Given the description of an element on the screen output the (x, y) to click on. 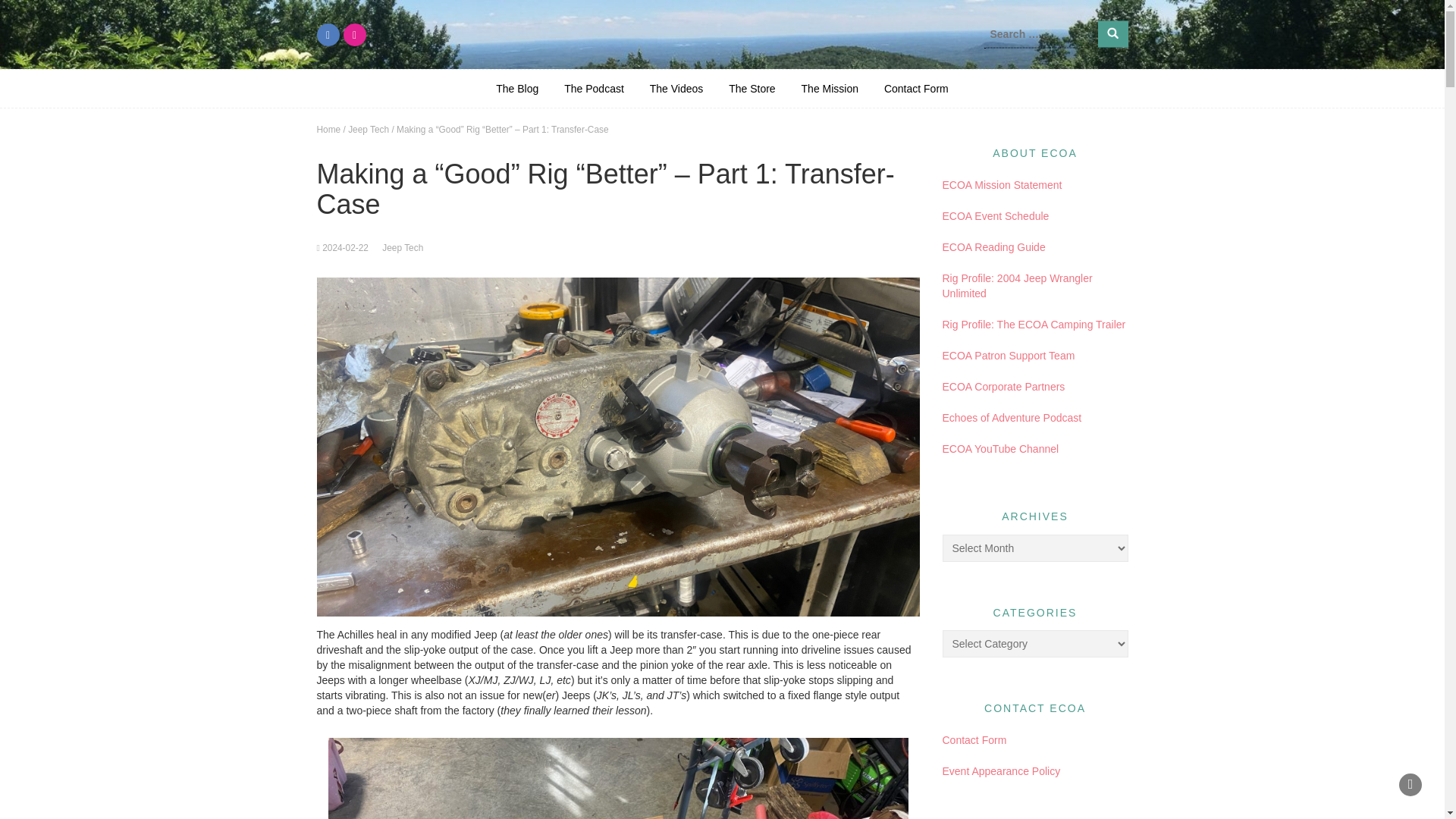
The Mission (829, 88)
ECOA Corporate Partners (1003, 386)
2024-02-22 (344, 247)
Search (1112, 33)
Event Appearance Policy (1000, 770)
The Podcast (593, 88)
Jeep Tech (367, 129)
The Store (751, 88)
Home (328, 129)
Contact Form (974, 739)
ECOA Reading Guide (993, 246)
ECOA Event Schedule (995, 215)
Rig Profile: The ECOA Camping Trailer (1033, 324)
Search (1112, 33)
Jeep Tech (402, 247)
